Given the description of an element on the screen output the (x, y) to click on. 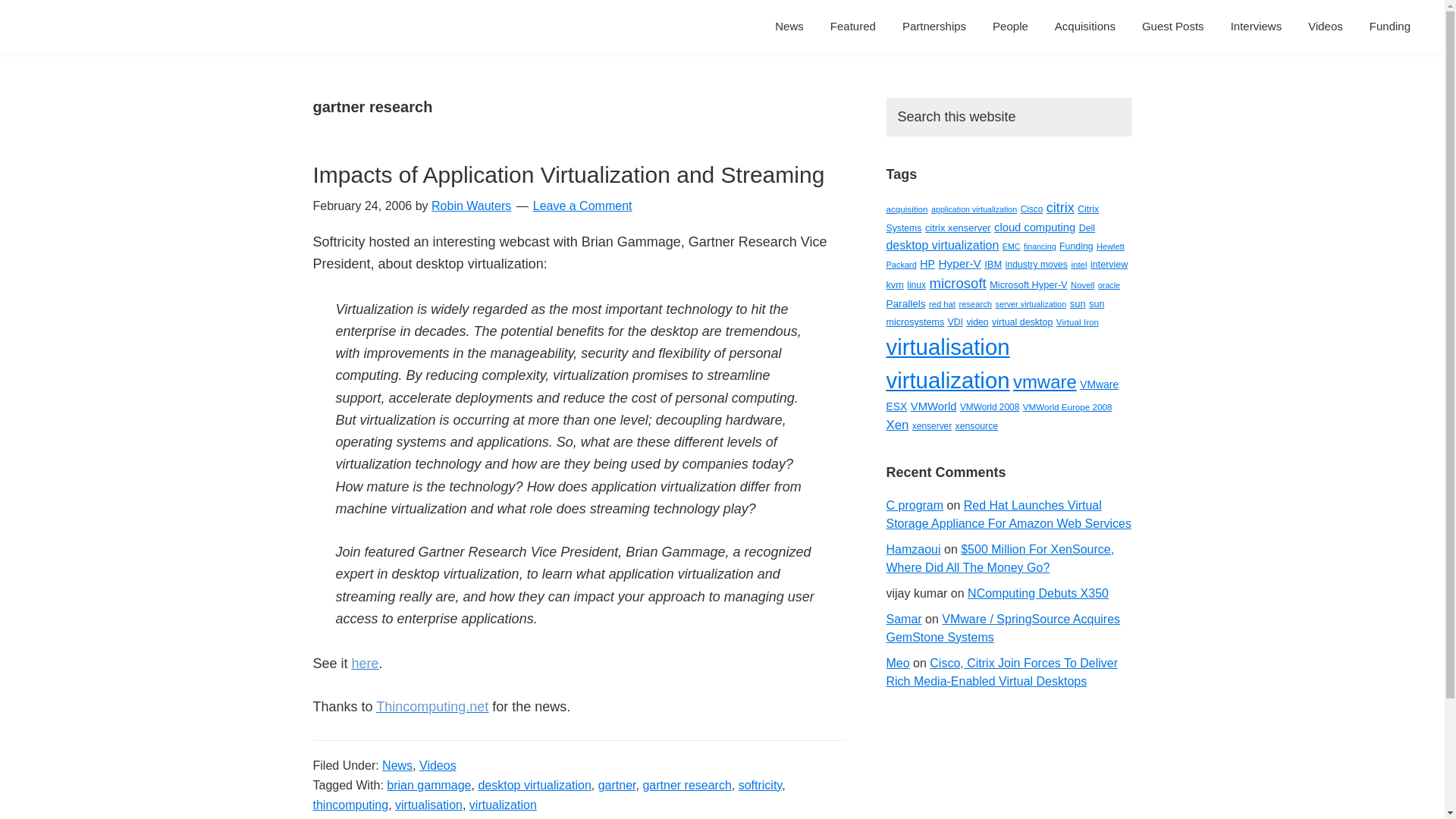
News (396, 764)
Citrix Systems (992, 218)
desktop virtualization (534, 784)
virtualization (502, 803)
Videos (438, 764)
financing (1040, 245)
brian gammage (428, 784)
Robin Wauters (470, 205)
News (788, 25)
Interviews (1257, 25)
Impacts of Application Virtualization and Streaming (568, 174)
cloud computing (1034, 227)
gartner research (686, 784)
acquisition (906, 208)
